Given the description of an element on the screen output the (x, y) to click on. 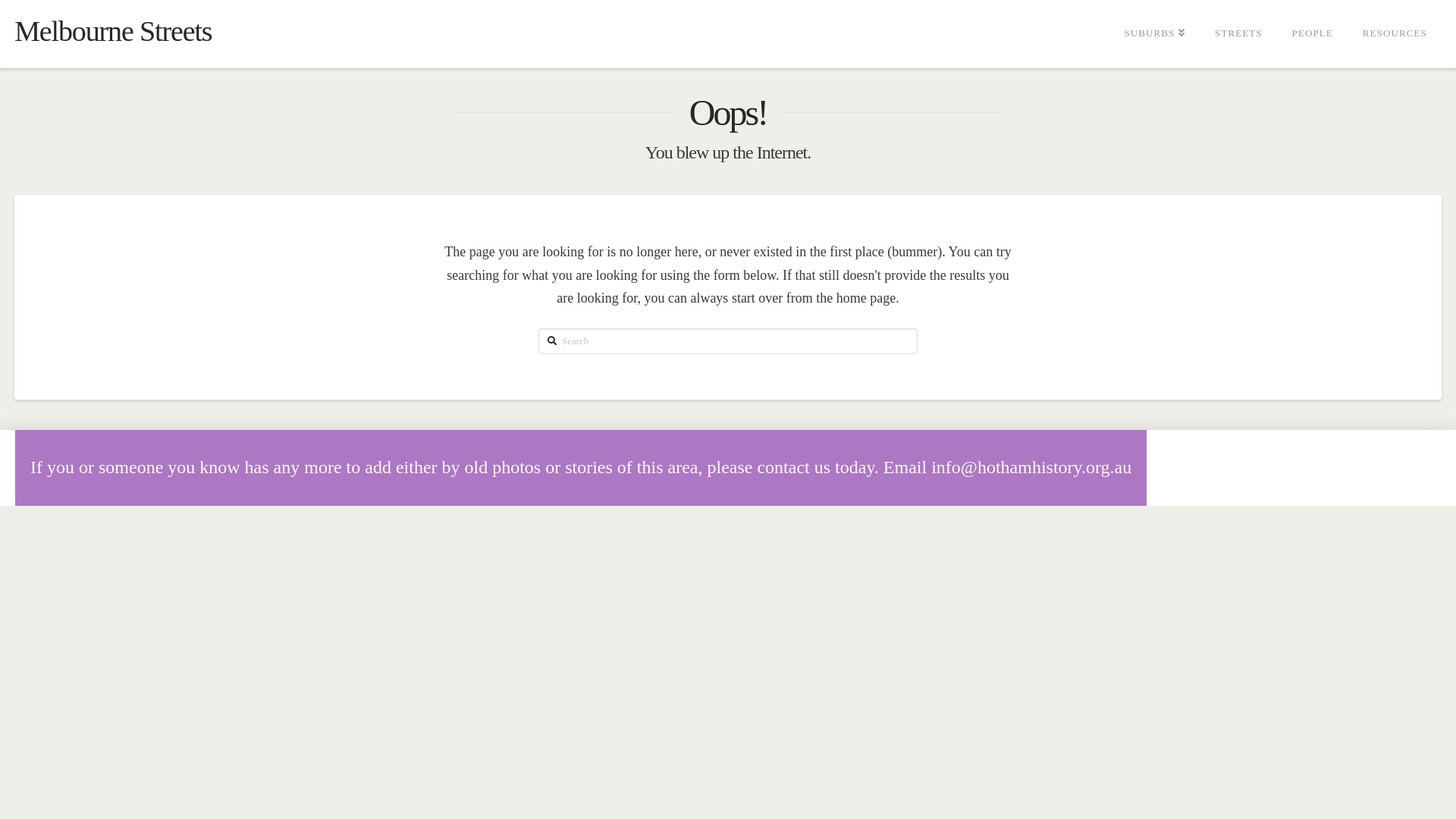
Melbourne Streets Element type: text (112, 30)
SUBURBS Element type: text (1153, 34)
PEOPLE Element type: text (1312, 34)
STREETS Element type: text (1238, 34)
RESOURCES Element type: text (1394, 34)
